Given the description of an element on the screen output the (x, y) to click on. 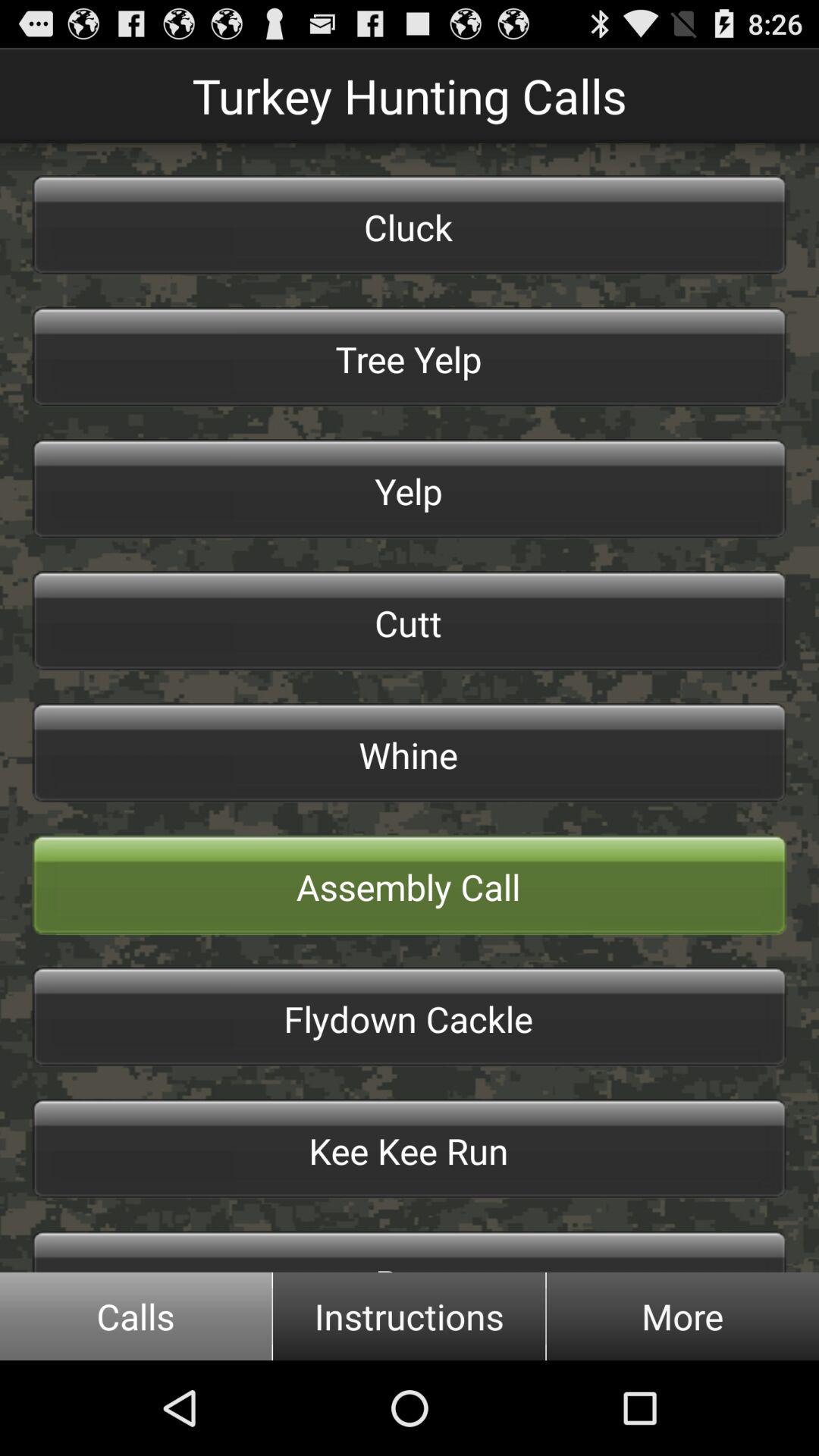
tap the icon below cutt button (409, 752)
